Given the description of an element on the screen output the (x, y) to click on. 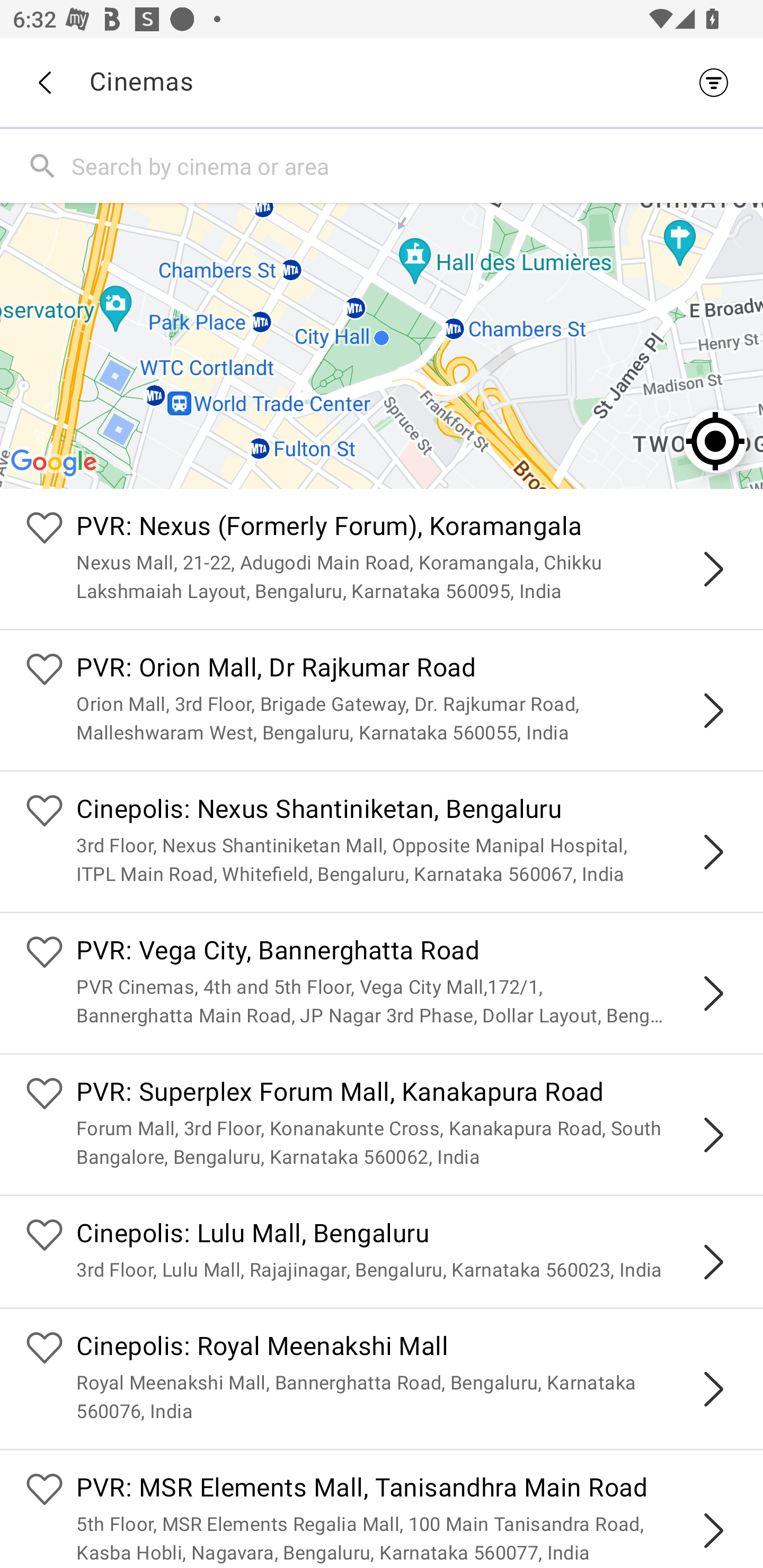
Back Cinemas Filter (381, 82)
Filter (718, 82)
Back (44, 82)
Search by cinema or area (413, 165)
Google Map Map Marker Map Marker (381, 345)
PVR: Nexus (Formerly Forum), Koramangala (406, 528)
 (713, 568)
PVR: Orion Mall, Dr Rajkumar Road (406, 669)
 (713, 710)
Cinepolis: Nexus Shantiniketan, Bengaluru (406, 810)
 (713, 851)
PVR: Vega City, Bannerghatta Road (406, 952)
 (713, 993)
PVR: Superplex Forum Mall, Kanakapura Road (406, 1094)
 (713, 1134)
Cinepolis: Lulu Mall, Bengaluru (406, 1235)
 (713, 1261)
Cinepolis: Royal Meenakshi Mall (406, 1348)
 (713, 1388)
PVR: MSR Elements Mall, Tanisandhra Main Road (406, 1489)
 (713, 1530)
